Given the description of an element on the screen output the (x, y) to click on. 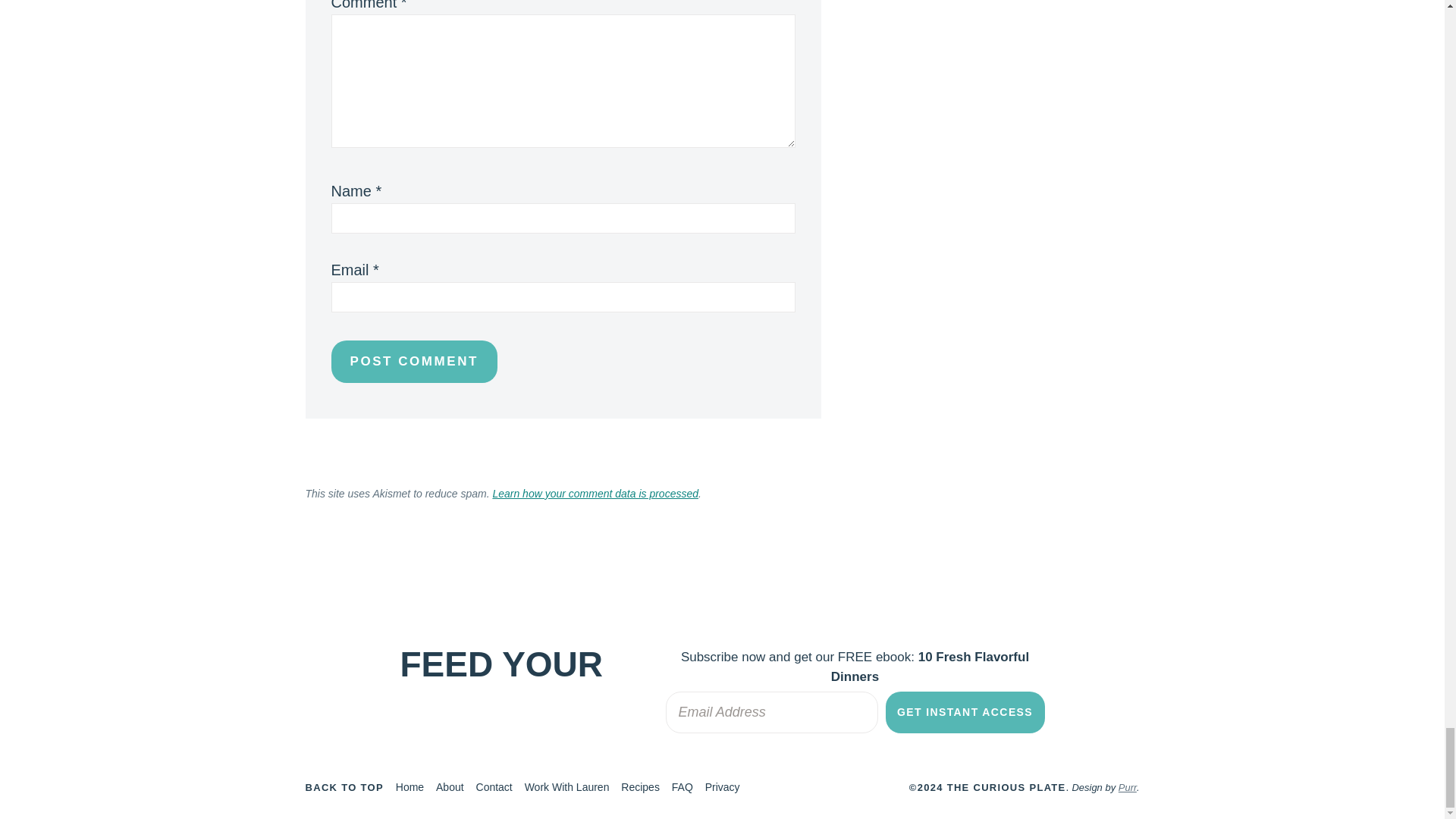
Post Comment (413, 361)
